Given the description of an element on the screen output the (x, y) to click on. 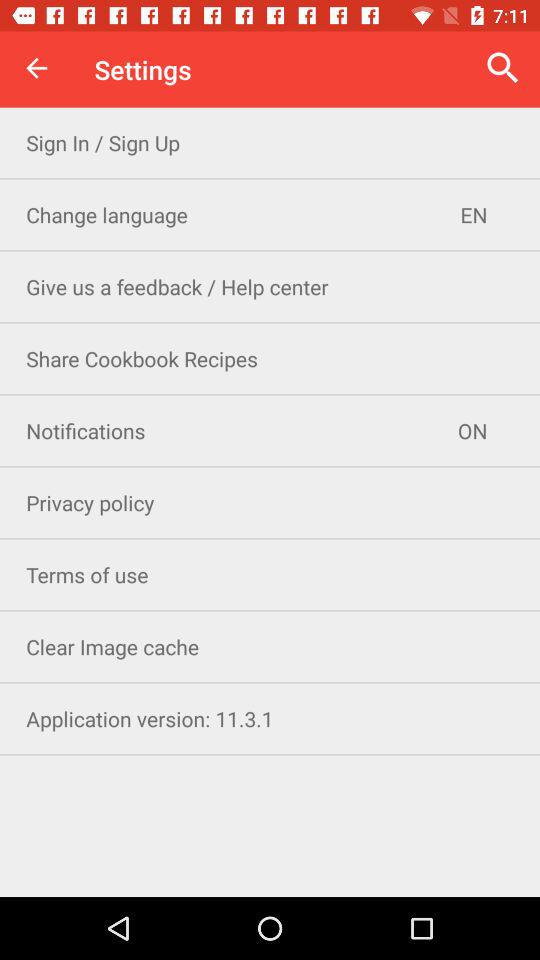
press the share cookbook recipes (270, 358)
